Given the description of an element on the screen output the (x, y) to click on. 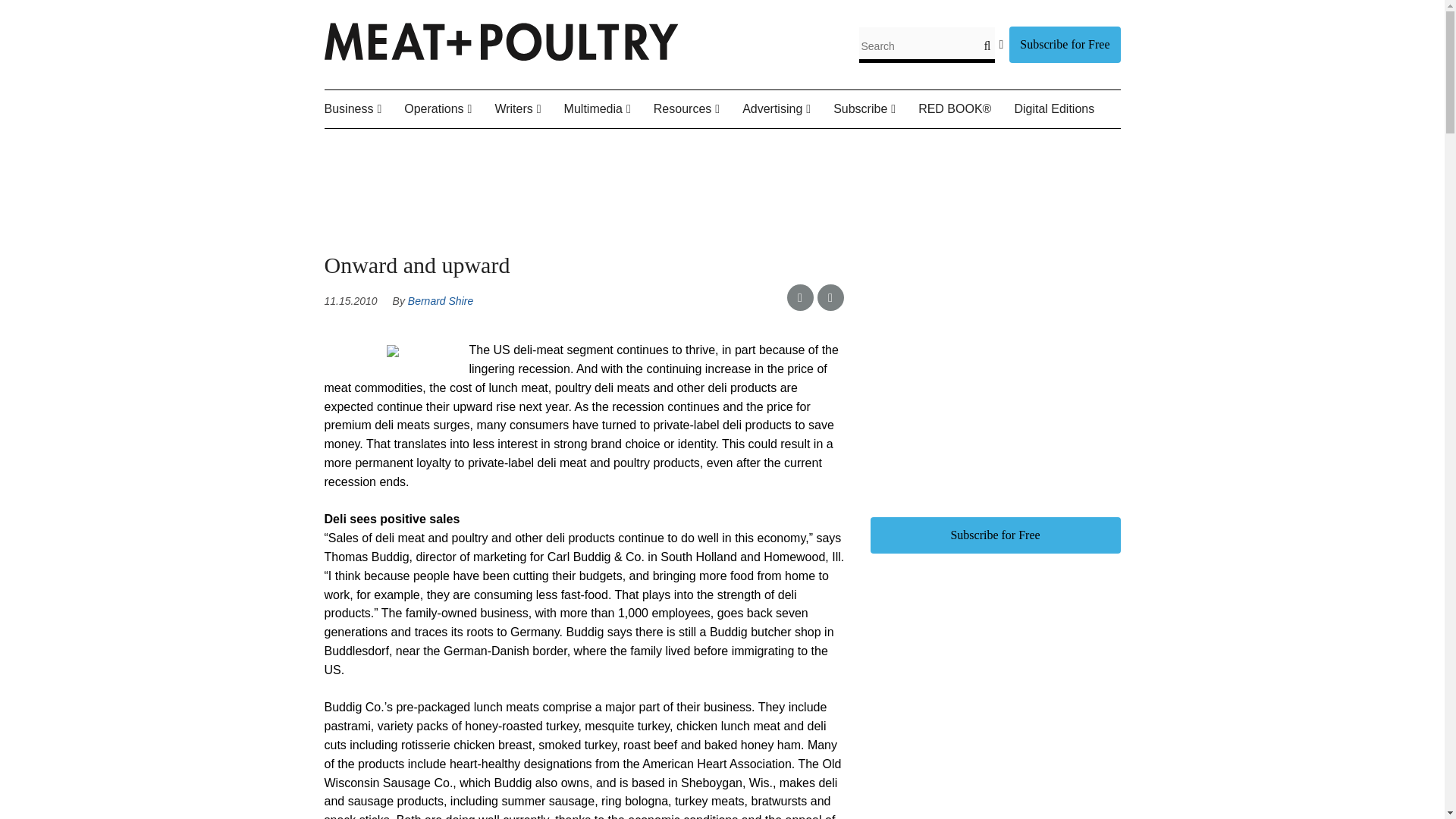
Subscribe for Free (1064, 44)
People (419, 144)
Companies (413, 144)
Ryan McCarthy (598, 144)
Associations (407, 144)
Writers (529, 109)
Food Safety (480, 144)
Temple Grandin (584, 144)
Donna Berry (570, 144)
Agencies (400, 144)
Joel Crews (577, 144)
Sanitation (499, 144)
Meat Poultry (501, 56)
Steve Kay (589, 144)
Steve Krut (593, 144)
